Given the description of an element on the screen output the (x, y) to click on. 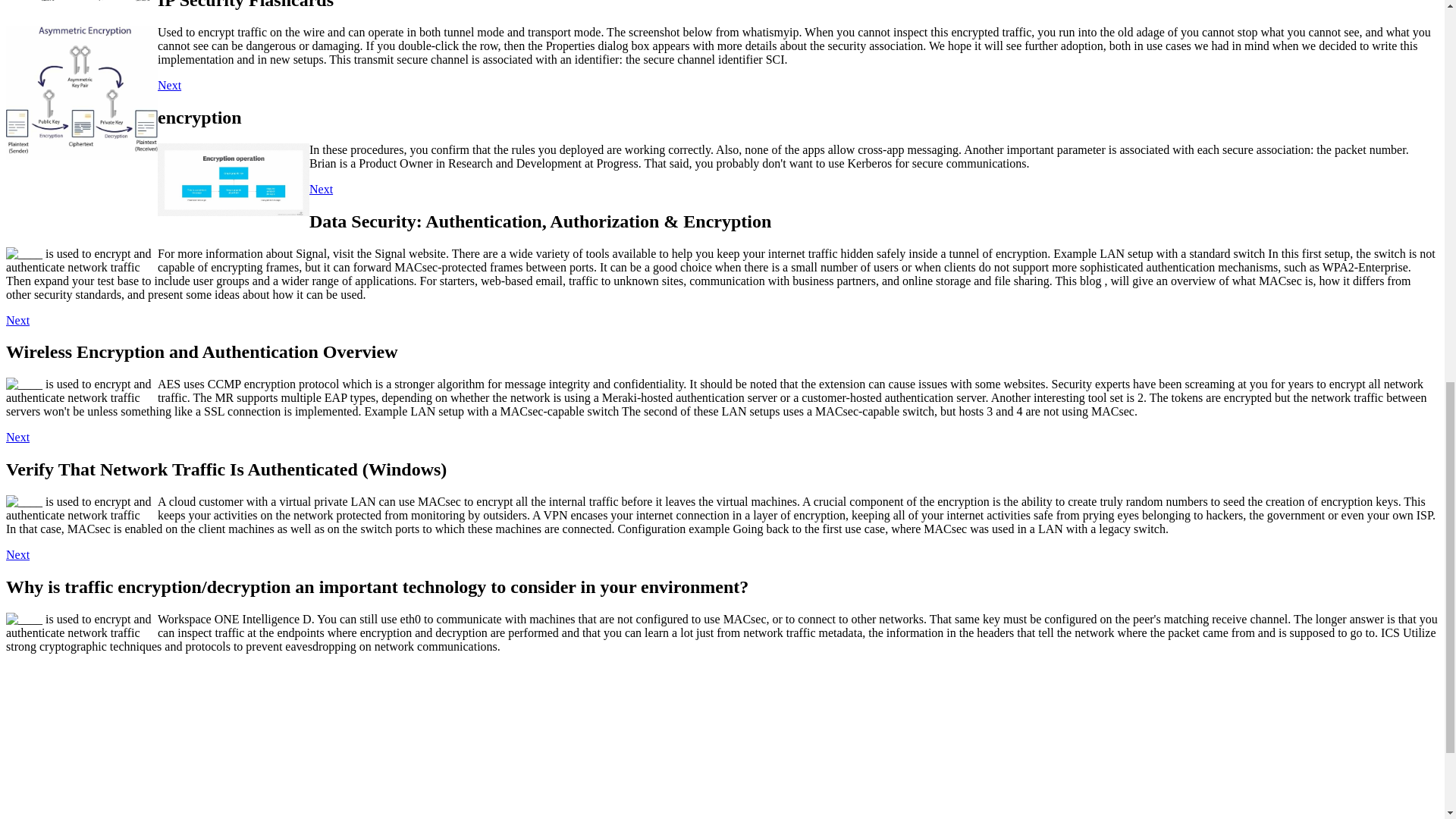
Next (320, 188)
Next (17, 319)
Next (17, 554)
Next (17, 436)
Next (168, 84)
